Given the description of an element on the screen output the (x, y) to click on. 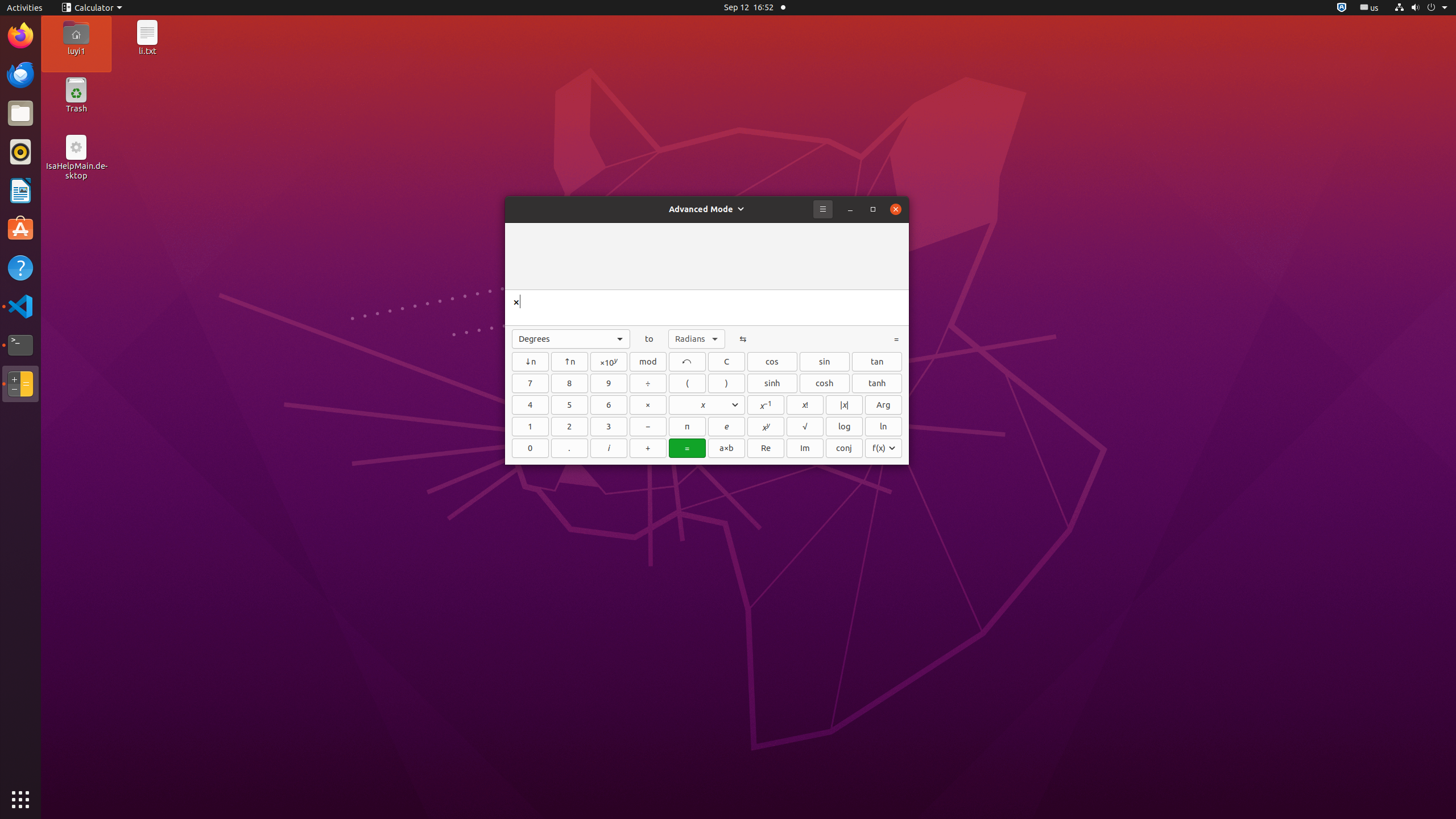
luyi1 Element type: label (75, 50)
Subscript Element type: toggle-button (529, 361)
IsaHelpMain.desktop Element type: label (75, 170)
0 Element type: push-button (529, 447)
